Given the description of an element on the screen output the (x, y) to click on. 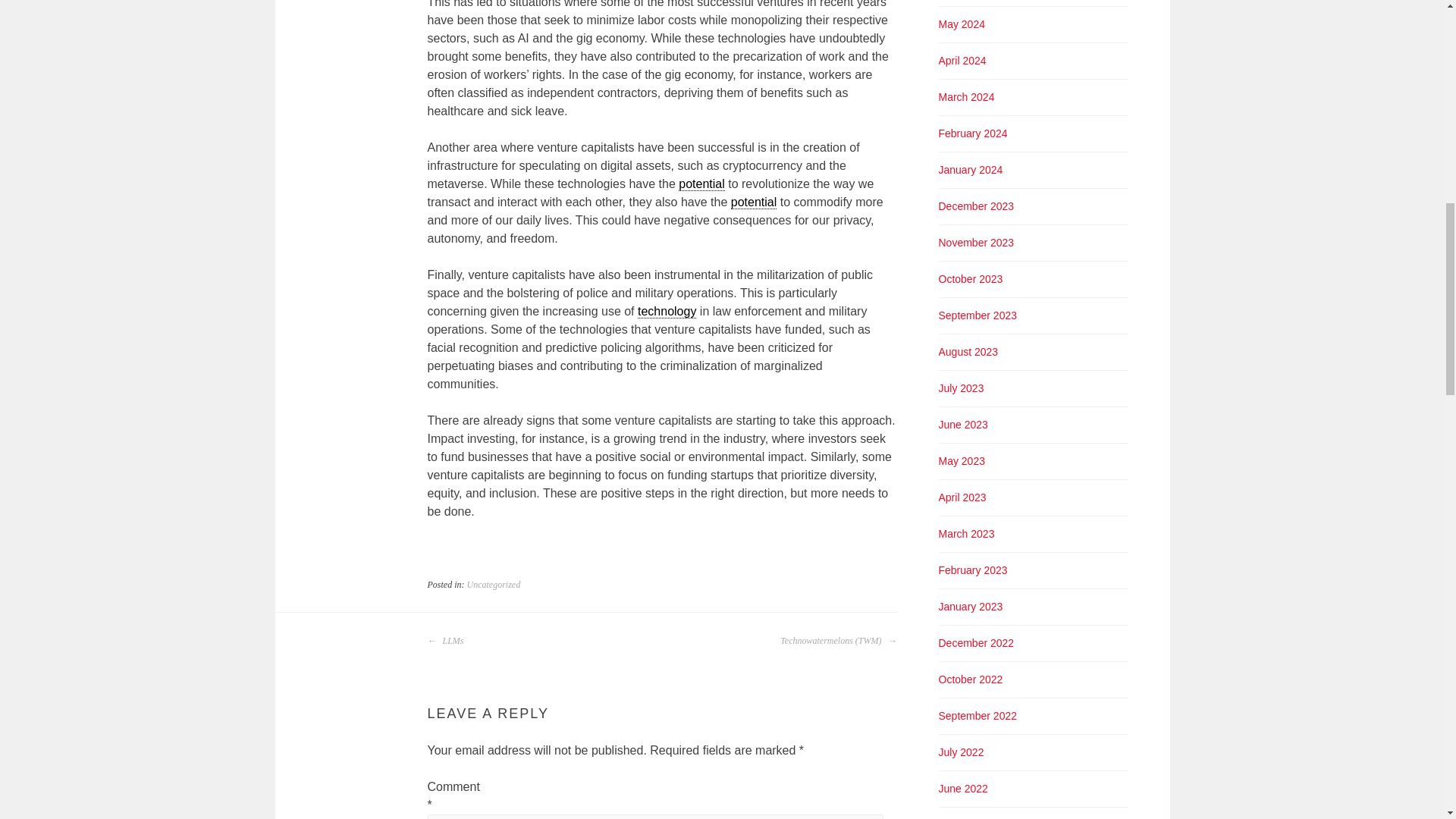
technology (666, 311)
May 2024 (962, 24)
November 2023 (976, 242)
March 2024 (966, 96)
September 2023 (978, 315)
October 2023 (971, 278)
potential (753, 202)
December 2023 (976, 205)
February 2024 (973, 133)
potential (701, 183)
Uncategorized (494, 584)
January 2024 (971, 169)
April 2024 (963, 60)
 LLMs (446, 640)
